Given the description of an element on the screen output the (x, y) to click on. 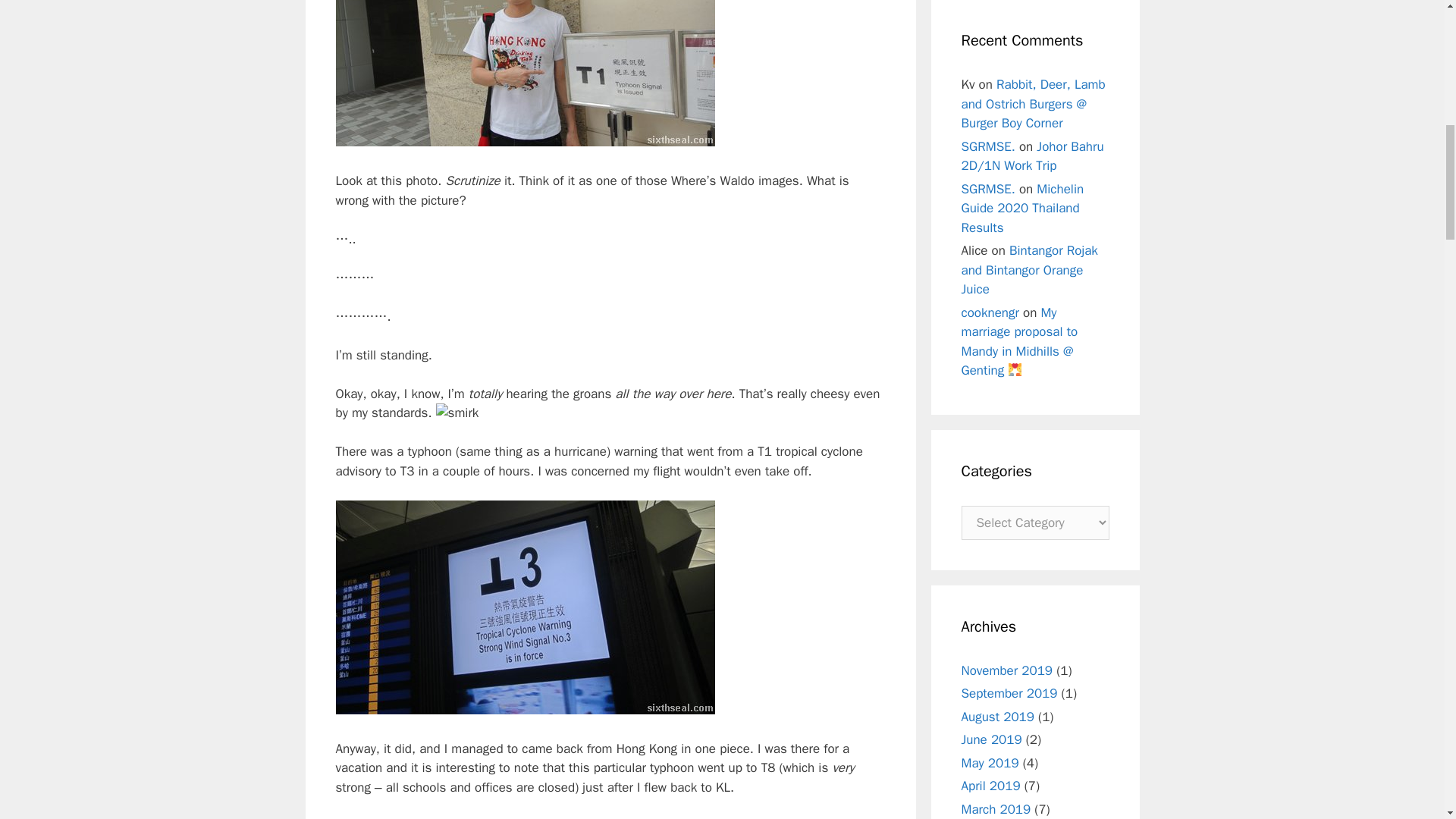
SGRMSE. (987, 188)
November 2019 (1006, 670)
cooknengr (989, 312)
June 2019 (991, 739)
August 2019 (996, 715)
SGRMSE. (987, 145)
April 2019 (990, 785)
September 2019 (1009, 693)
Bintangor Rojak and Bintangor Orange Juice (1028, 269)
Michelin Guide 2020 Thailand Results (1022, 207)
May 2019 (989, 763)
